Given the description of an element on the screen output the (x, y) to click on. 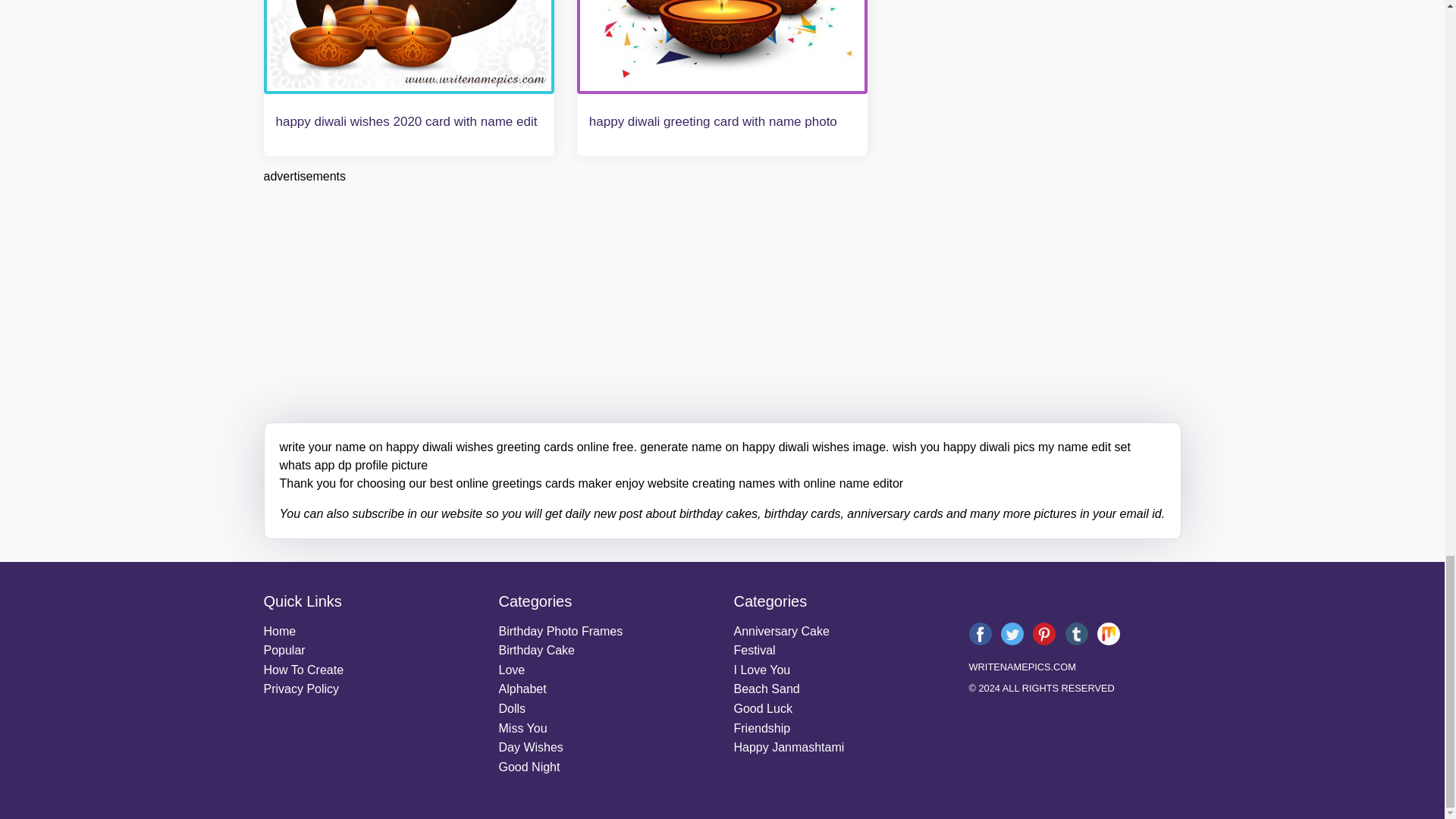
happy diwali wishes 2020 card with name edit (406, 120)
happy diwali greeting card with name photo (713, 120)
happy diwali greeting card with name photo (721, 46)
happy diwali wishes 2020 card with name edit (408, 46)
